Given the description of an element on the screen output the (x, y) to click on. 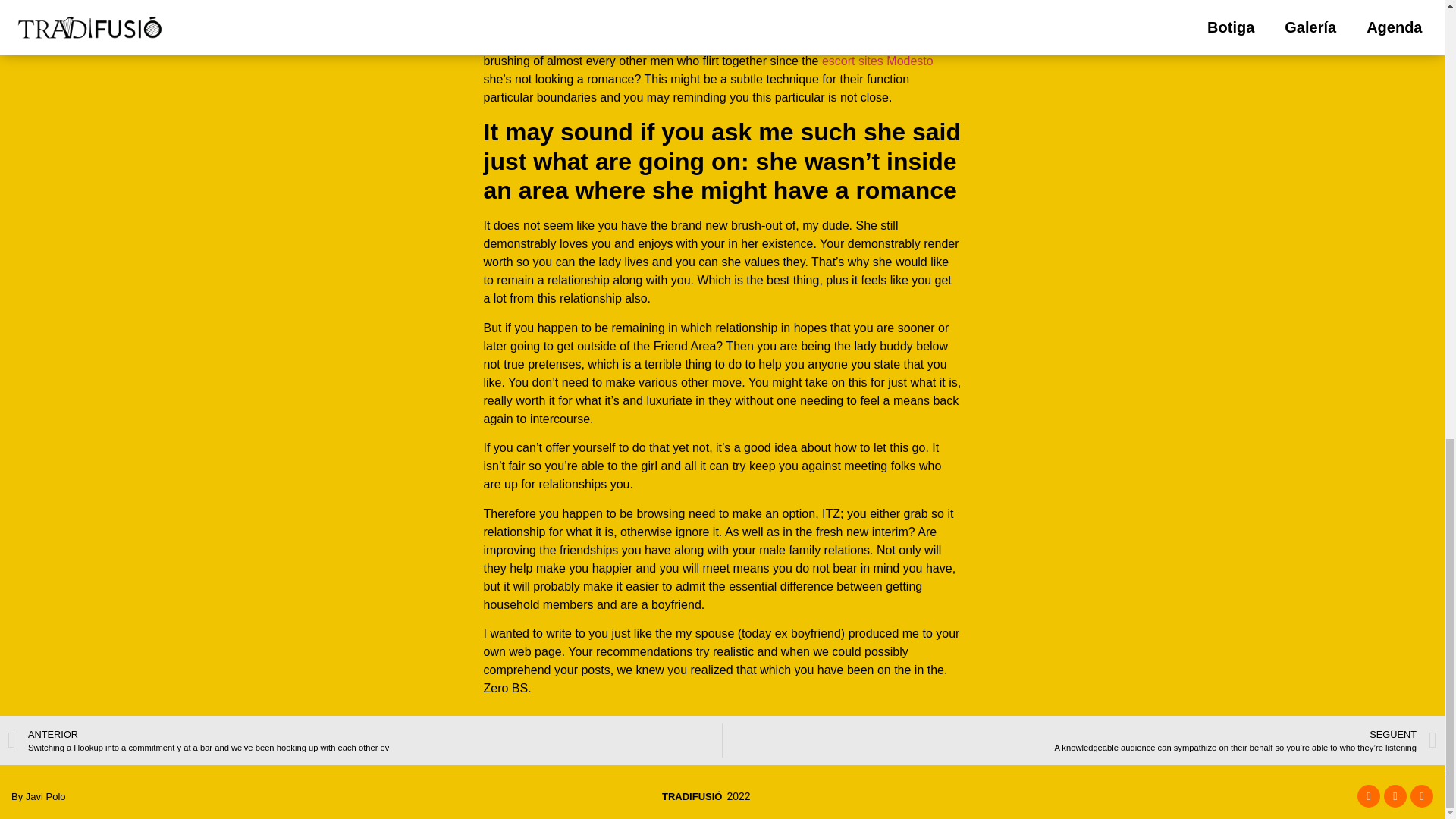
escort sites Modesto (877, 60)
2022 (735, 796)
